Given the description of an element on the screen output the (x, y) to click on. 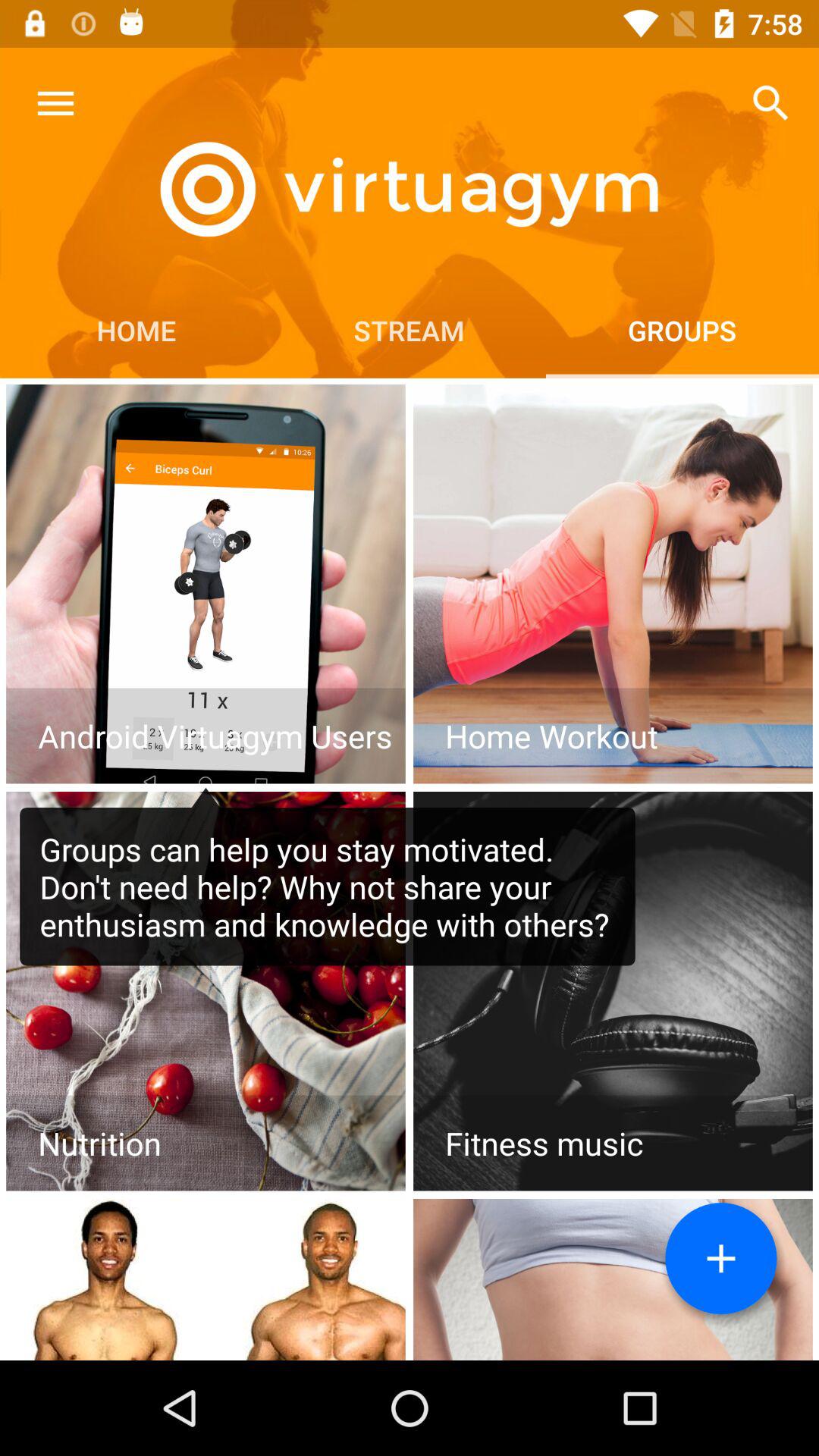
access nutrition (205, 990)
